Given the description of an element on the screen output the (x, y) to click on. 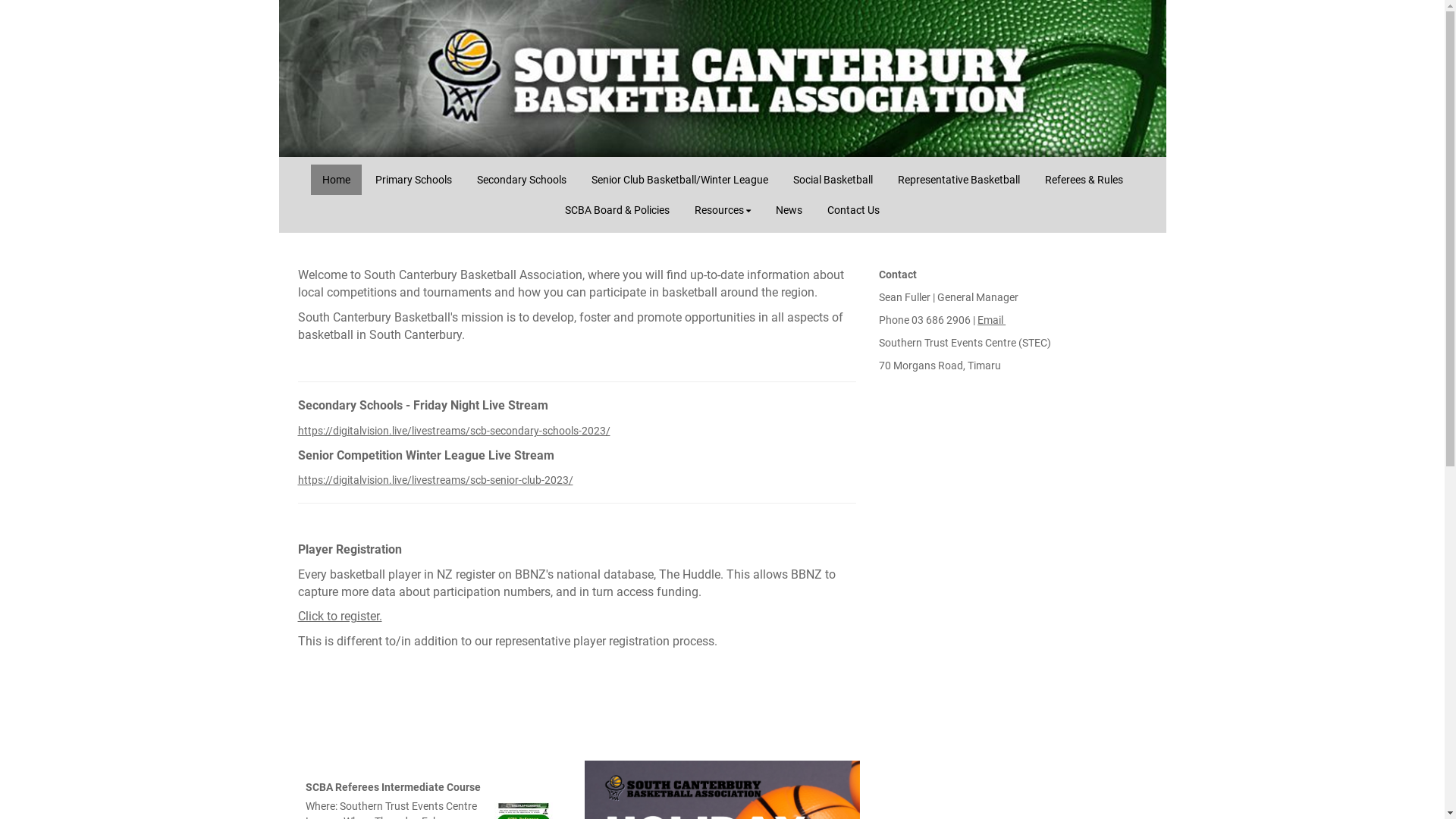
Resources Element type: text (722, 209)
Home Element type: text (335, 179)
SCBA Board & Policies Element type: text (616, 209)
Contact Us Element type: text (853, 209)
Senior Club Basketball/Winter League Element type: text (678, 179)
https://digitalvision.live/livestreams/scb-senior-club-2023/ Element type: text (434, 479)
Primary Schools Element type: text (413, 179)
Secondary Schools Element type: text (521, 179)
Referees & Rules Element type: text (1082, 179)
Representative Basketball Element type: text (957, 179)
Email  Element type: text (991, 319)
News Element type: text (788, 209)
Social Basketball Element type: text (832, 179)
Click to register. Element type: text (339, 616)
SCBA Referees Intermediate Course Element type: text (392, 787)
